Given the description of an element on the screen output the (x, y) to click on. 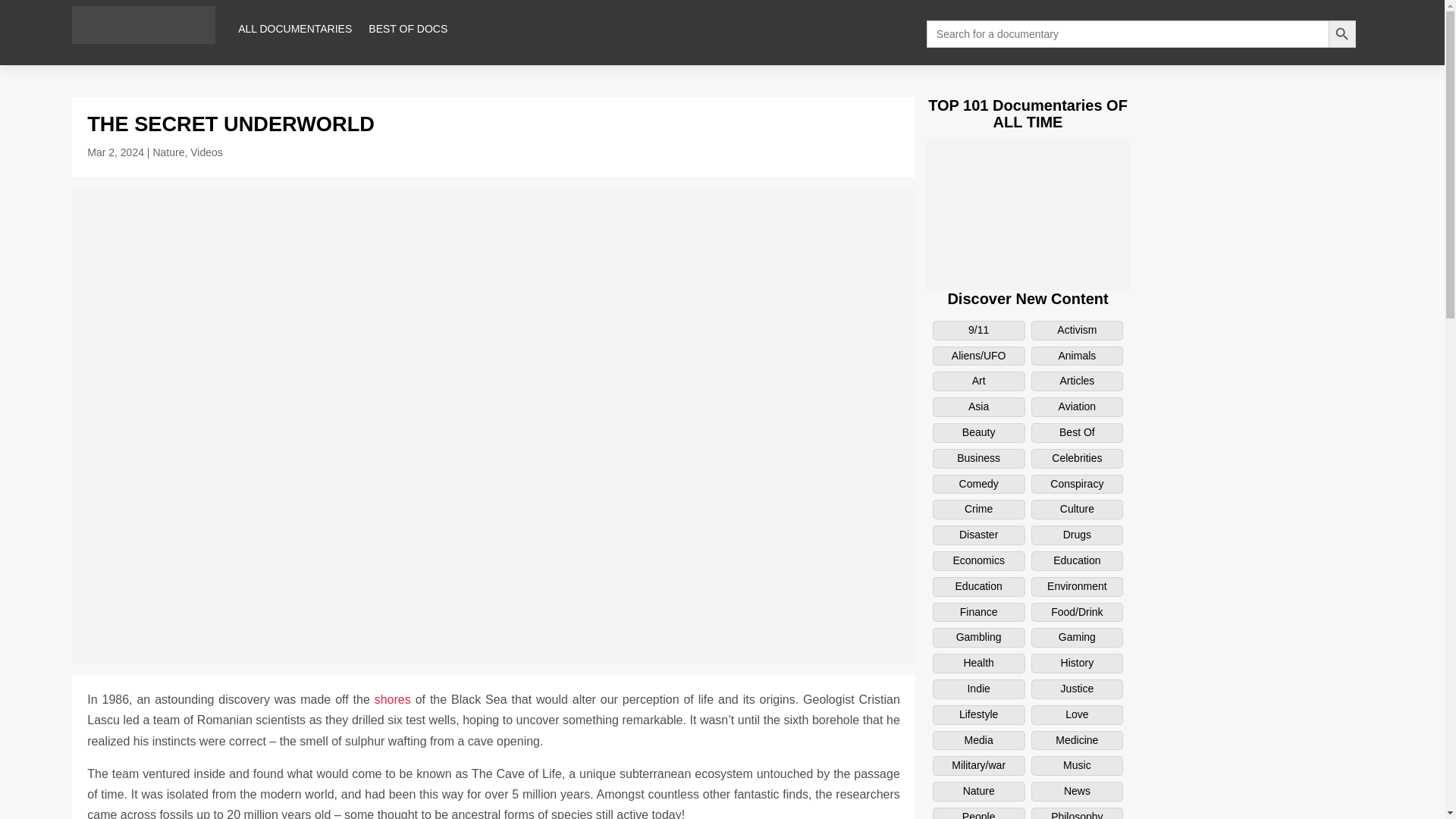
BEST OF DOCS (407, 28)
ALL DOCUMENTARIES (295, 28)
Disaster (979, 535)
Asia (979, 407)
Articles (1077, 381)
Best Of (1077, 433)
Search Button (1341, 33)
Economics (979, 561)
Comedy (979, 484)
Aviation (1077, 407)
